Given the description of an element on the screen output the (x, y) to click on. 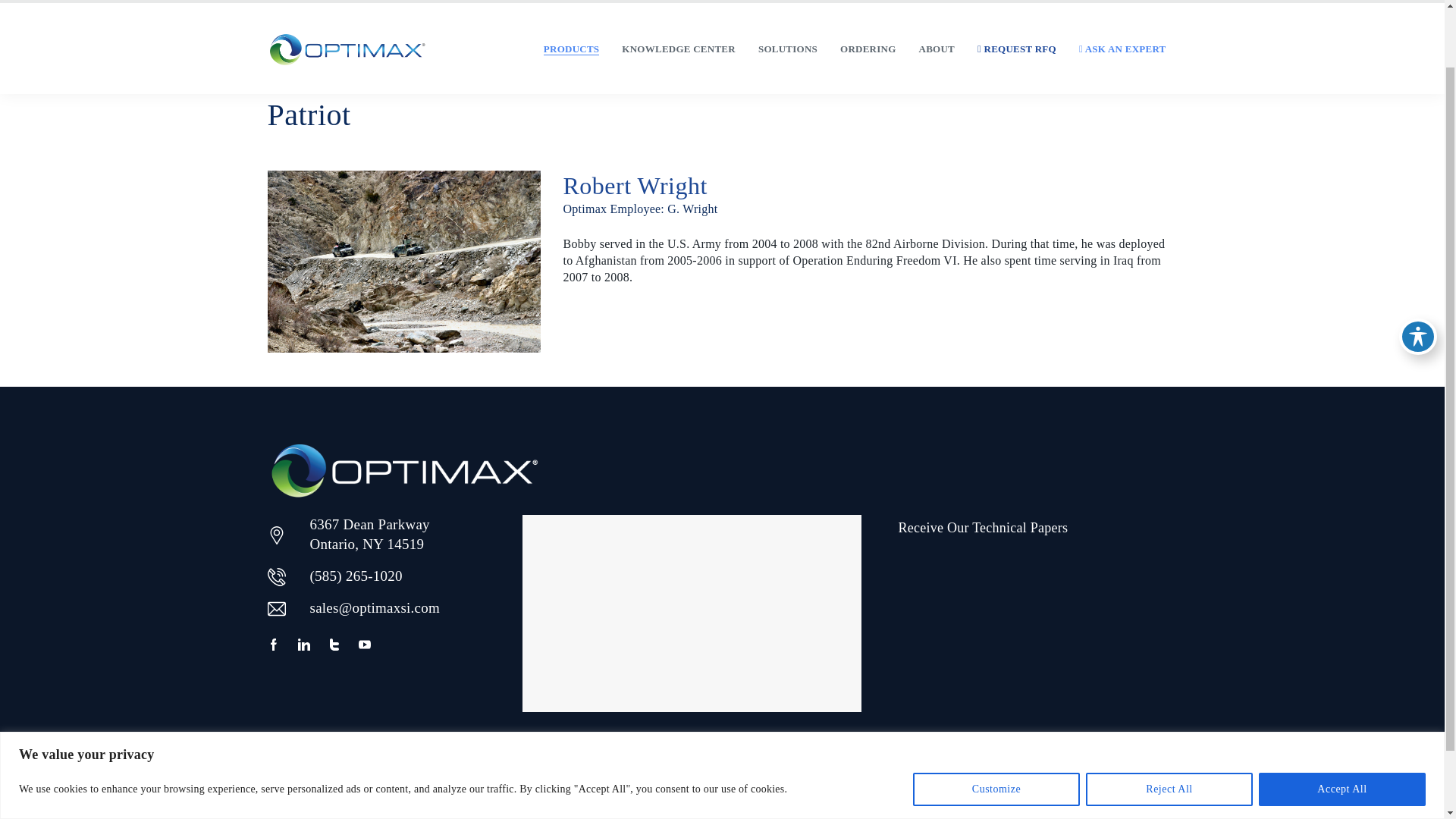
twitter (333, 645)
Accept All (1342, 720)
Reject All (1169, 720)
linkedin (303, 645)
Optimax Systems, Inc (403, 469)
facebook (272, 645)
Optimax Systems, Inc (346, 48)
Customize (996, 720)
youtube (363, 645)
Form 0 (1037, 653)
